Given the description of an element on the screen output the (x, y) to click on. 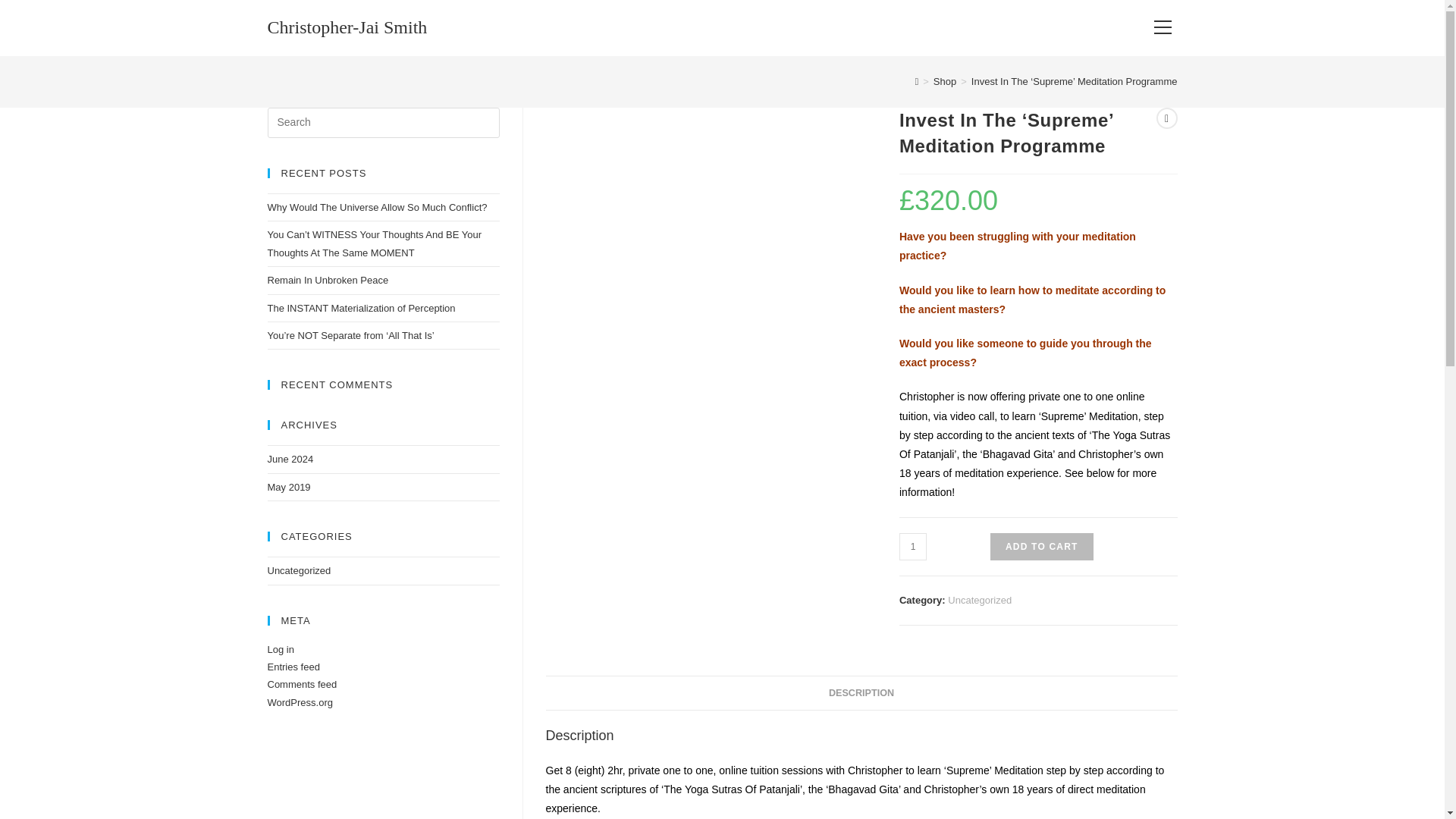
Uncategorized (979, 600)
ADD TO CART (1041, 546)
DESCRIPTION (861, 693)
1 (912, 546)
Qty (912, 546)
Shop (944, 81)
6583 (1104, 24)
Christopher-Jai Smith (346, 26)
